Given the description of an element on the screen output the (x, y) to click on. 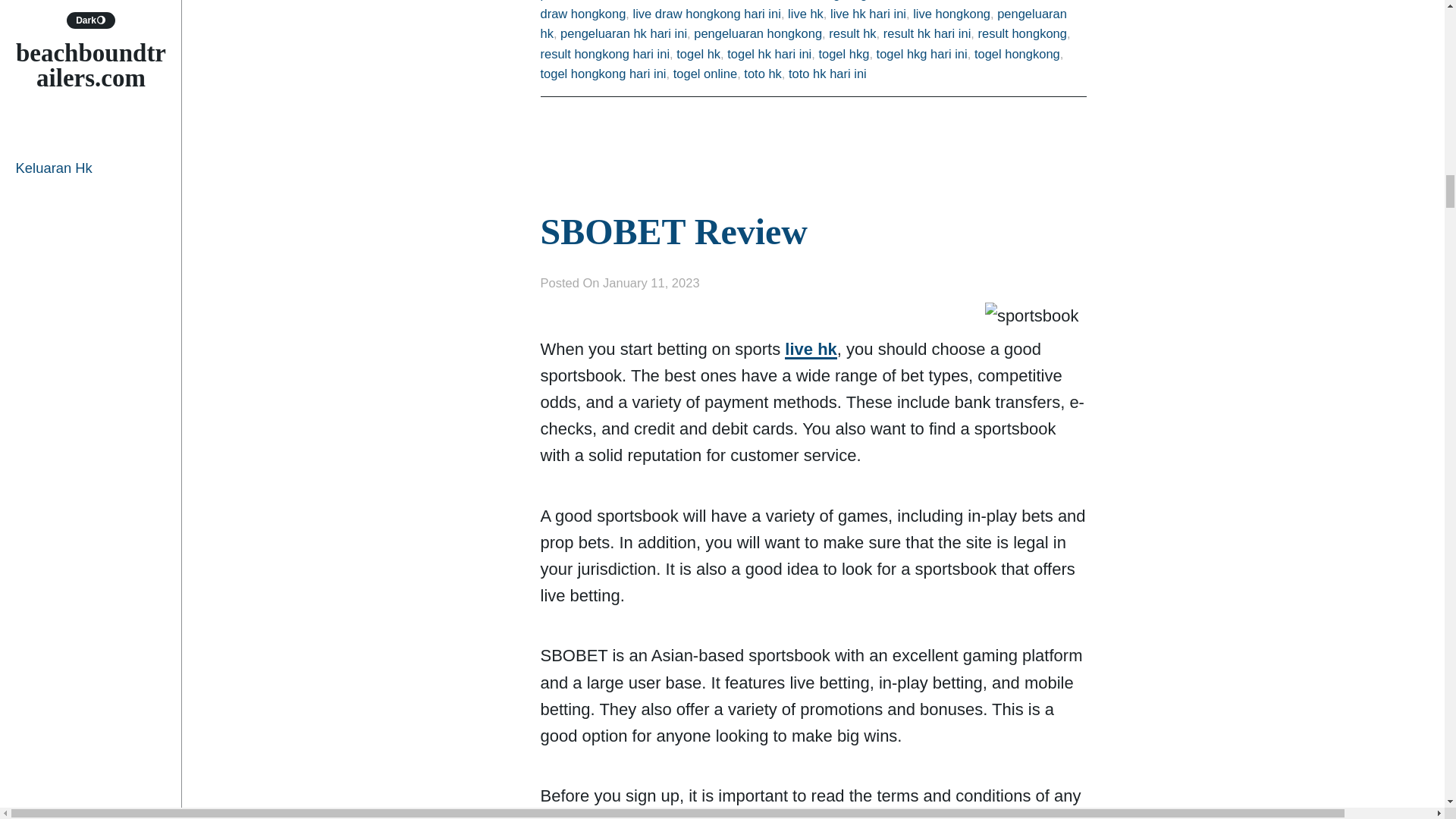
pengeluaran hongkong (758, 33)
result hk hari ini (927, 33)
live hk hari ini (867, 13)
pengeluaran hk (802, 23)
pengeluaran hk hari ini (623, 33)
result hk (852, 33)
keluaran hk (609, 0)
live draw hongkong hari ini (706, 13)
live hk (805, 13)
live draw hongkong (809, 10)
live draw hk (907, 0)
live hongkong (951, 13)
